Given the description of an element on the screen output the (x, y) to click on. 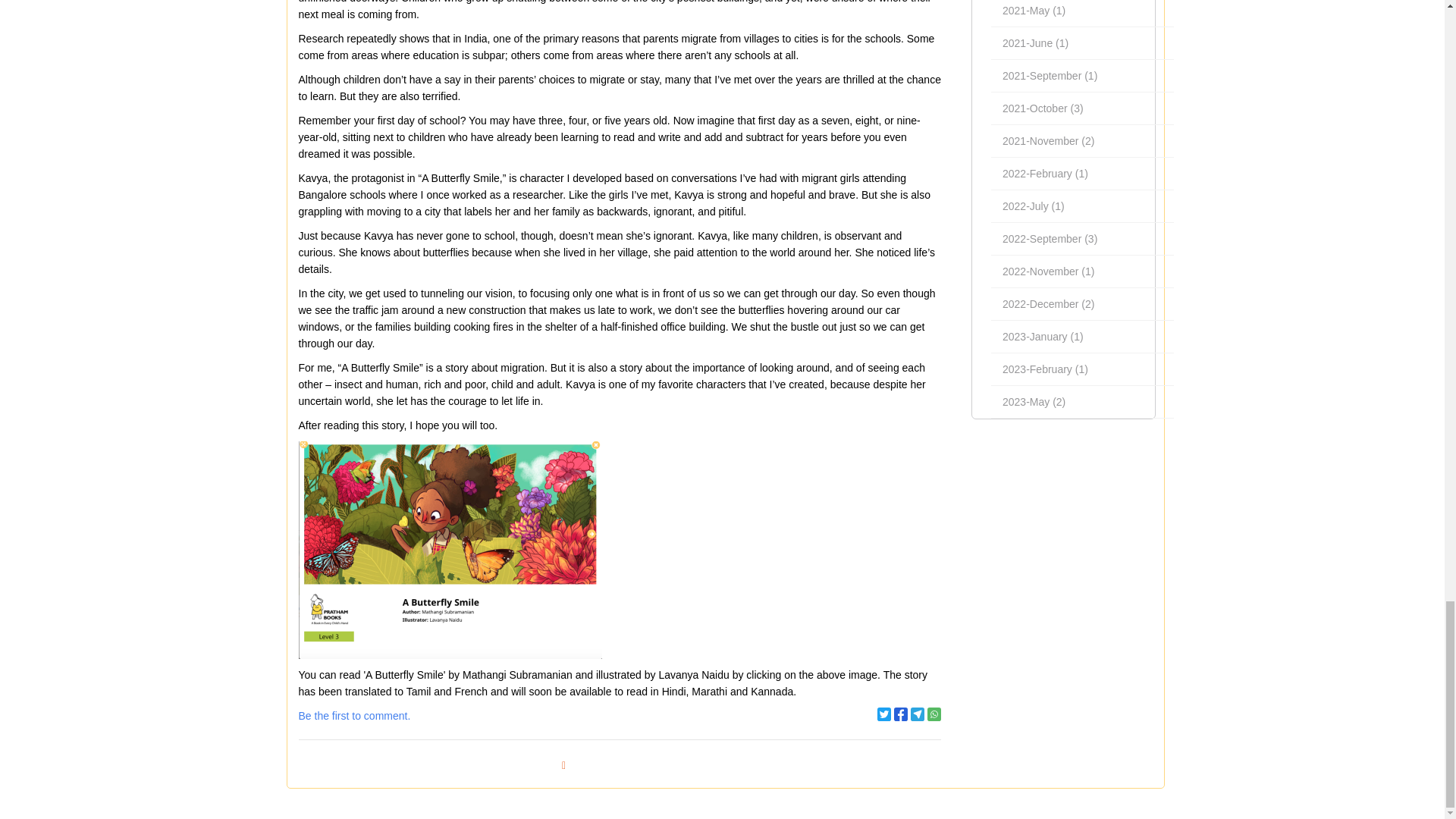
Share to Facebook (900, 714)
Share to Twitter (884, 714)
Share to WhatsApp (933, 714)
Share to Telegram (917, 714)
